Given the description of an element on the screen output the (x, y) to click on. 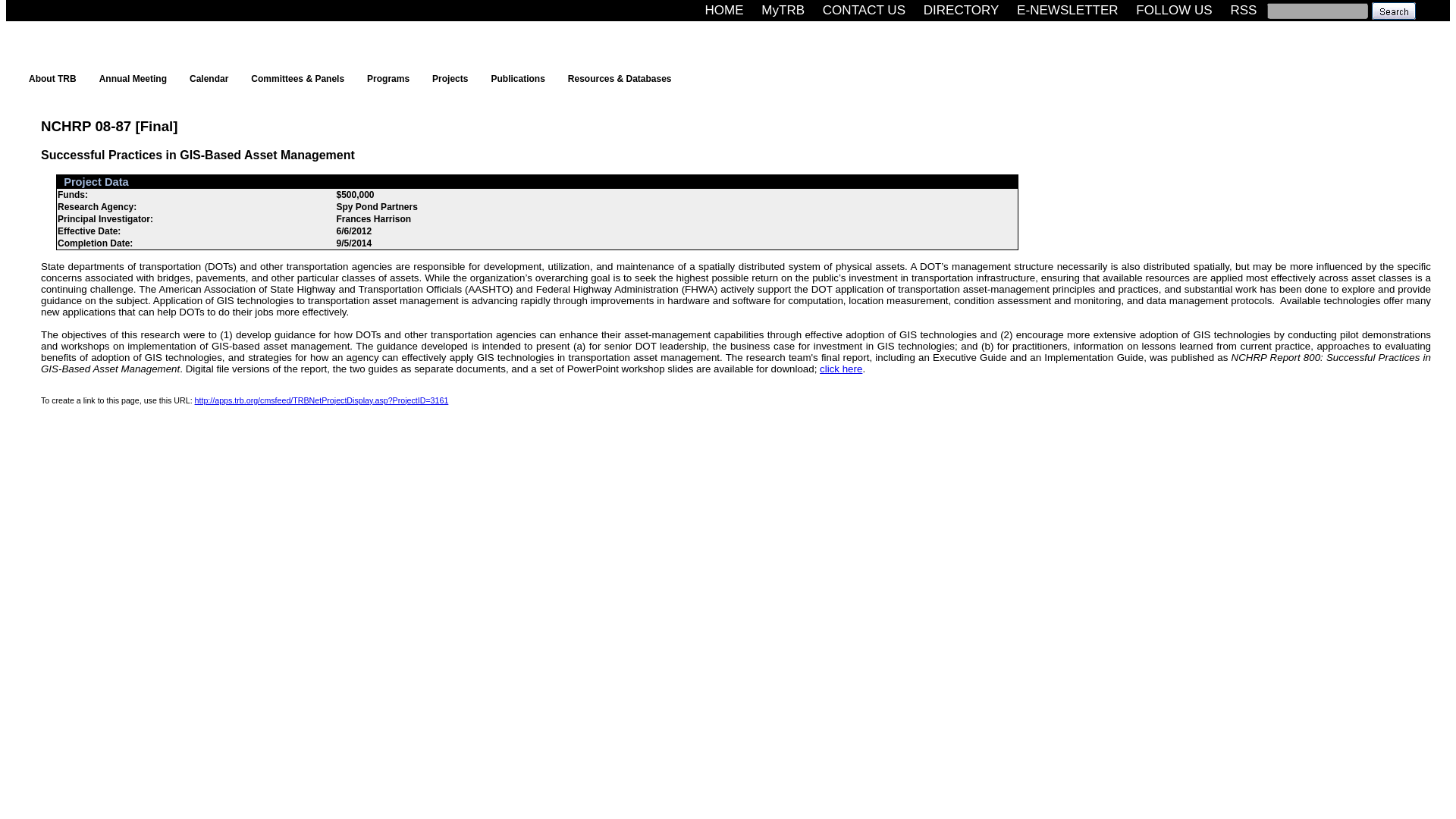
CONTACT US (863, 10)
My TRB (783, 10)
FOLLOW US (1174, 10)
E-NEWSLETTER (1067, 10)
Directory (961, 10)
E-Newsletter (1067, 10)
Annual Meeting (136, 77)
RSS (1243, 10)
Home (724, 10)
HOME (724, 10)
RSS (1243, 10)
DIRECTORY (961, 10)
Click to search (1393, 9)
Follow Us (1174, 10)
